Given the description of an element on the screen output the (x, y) to click on. 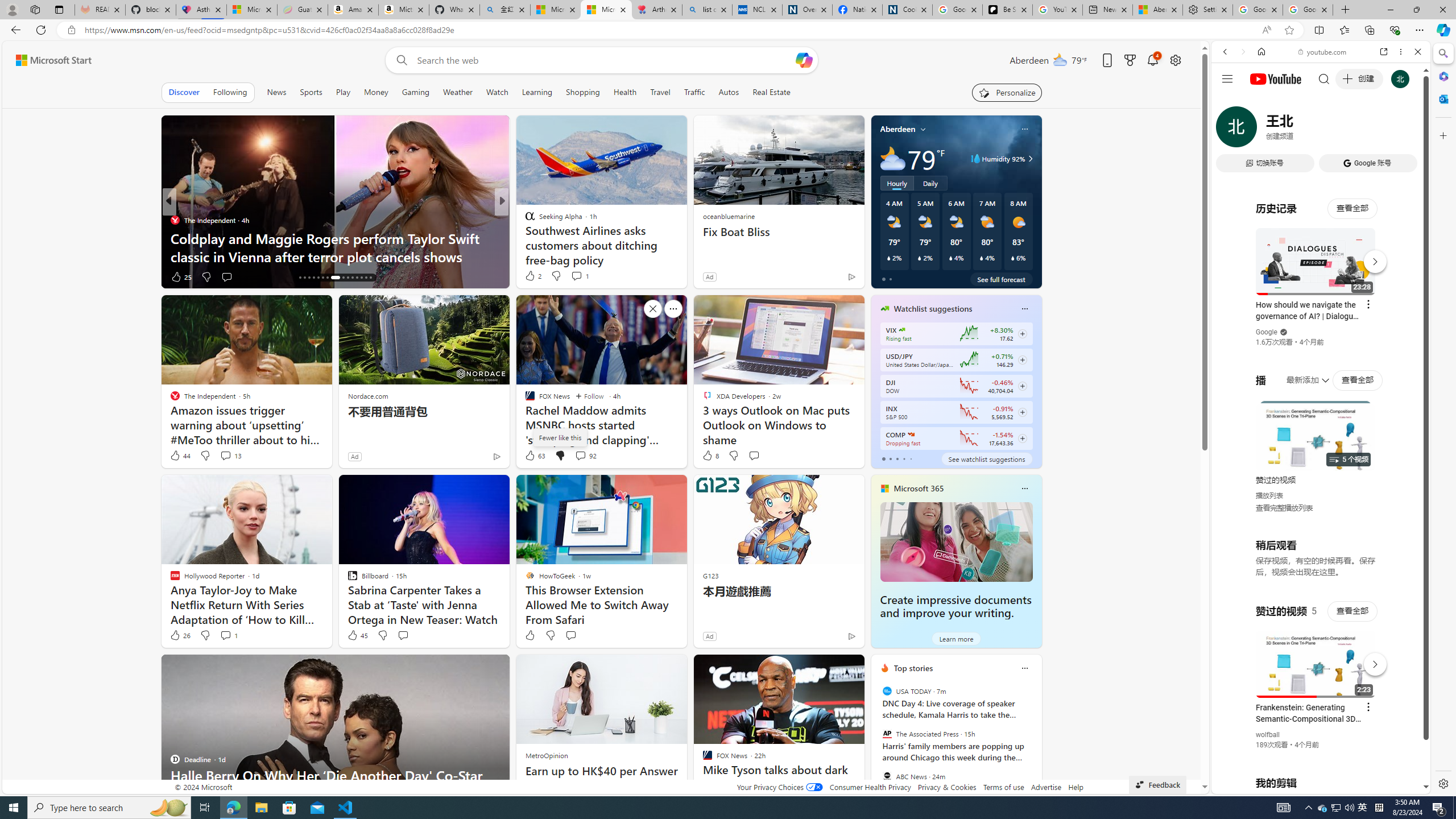
26 Like (179, 634)
next (1035, 741)
AutomationID: tab-28 (361, 277)
AutomationID: tab-26 (352, 277)
Fix Boat Bliss (778, 232)
Open settings (1175, 60)
View comments 92 Comment (585, 455)
71 Like (180, 276)
US[ju] (1249, 785)
AutomationID: tab-27 (356, 277)
Gaming (415, 92)
